Given the description of an element on the screen output the (x, y) to click on. 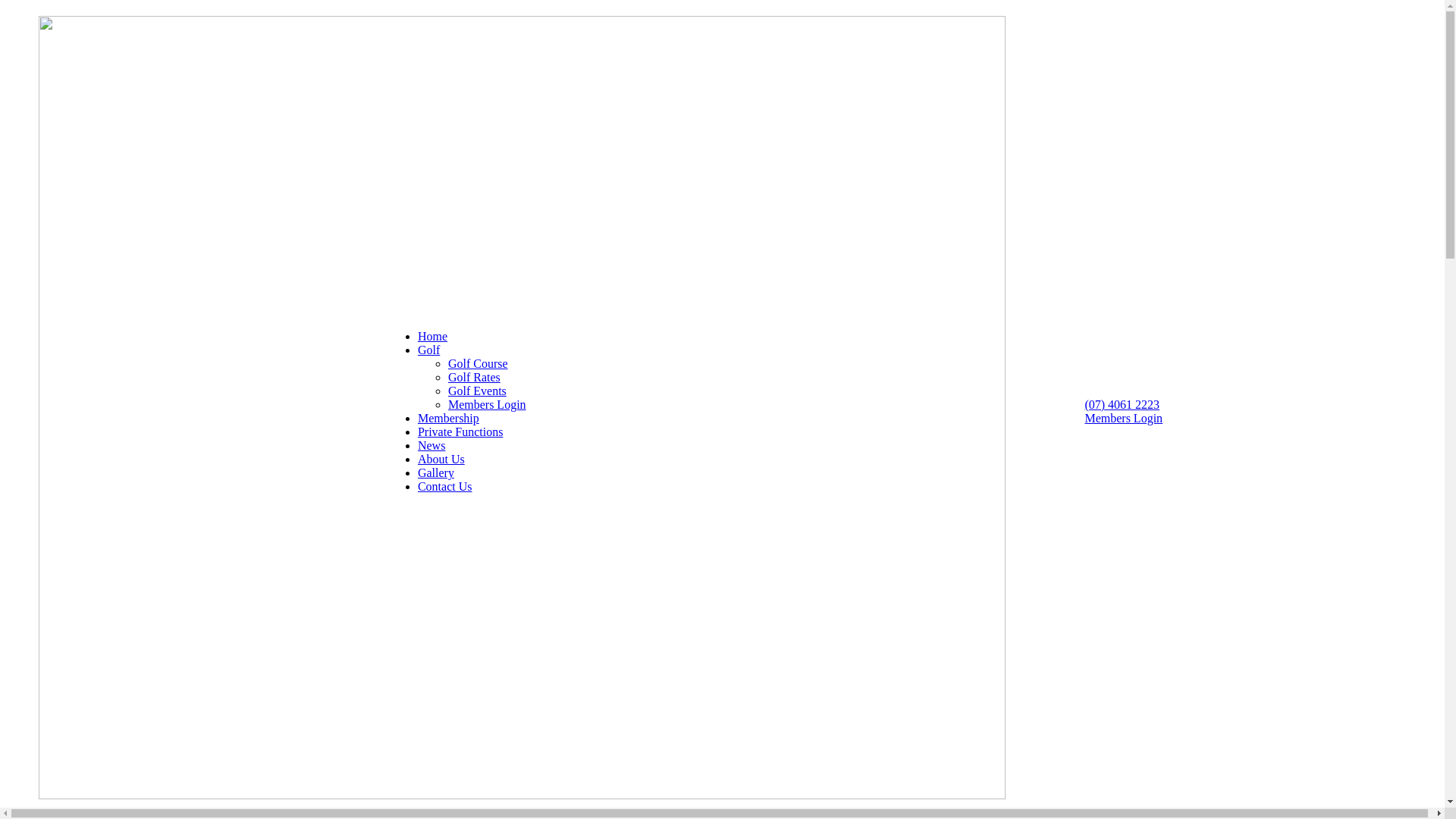
Golf Rates Element type: text (474, 376)
Contact Us Element type: text (444, 486)
Members Login Element type: text (487, 404)
Golf Course Element type: text (478, 363)
(07) 4061 2223 Element type: text (1121, 404)
Membership Element type: text (448, 417)
Home Element type: text (432, 335)
Golf Element type: text (428, 349)
About Us Element type: text (440, 458)
News Element type: text (431, 445)
Private Functions Element type: text (459, 431)
Golf Events Element type: text (477, 390)
Members Login Element type: text (1123, 417)
Gallery Element type: text (435, 472)
